Given the description of an element on the screen output the (x, y) to click on. 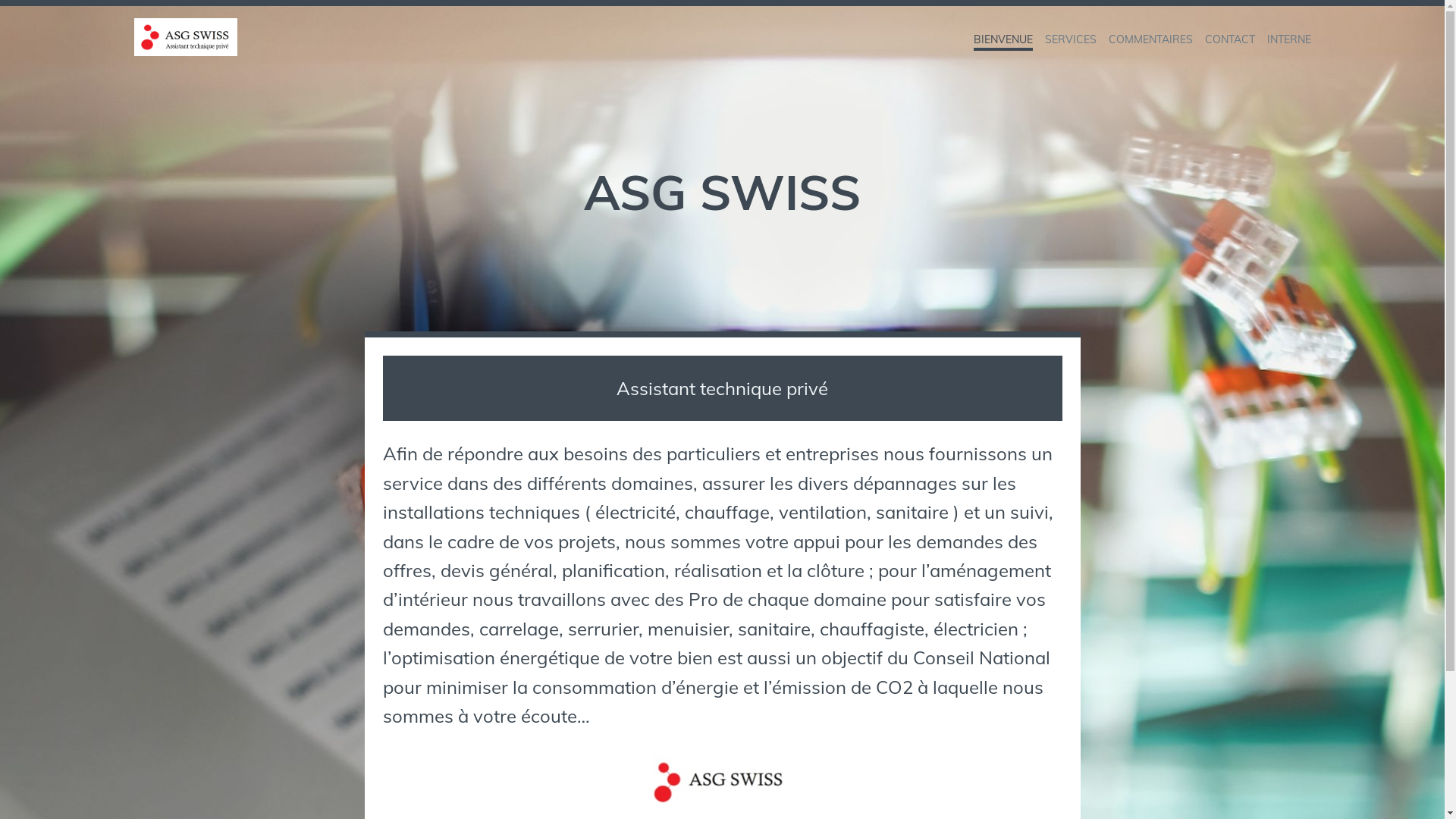
INTERNE Element type: text (1288, 39)
SERVICES Element type: text (1070, 39)
ASG SWISS Element type: text (273, 44)
COMMENTAIRES Element type: text (1150, 39)
CONTACT Element type: text (1229, 39)
BIENVENUE Element type: text (1002, 39)
